Given the description of an element on the screen output the (x, y) to click on. 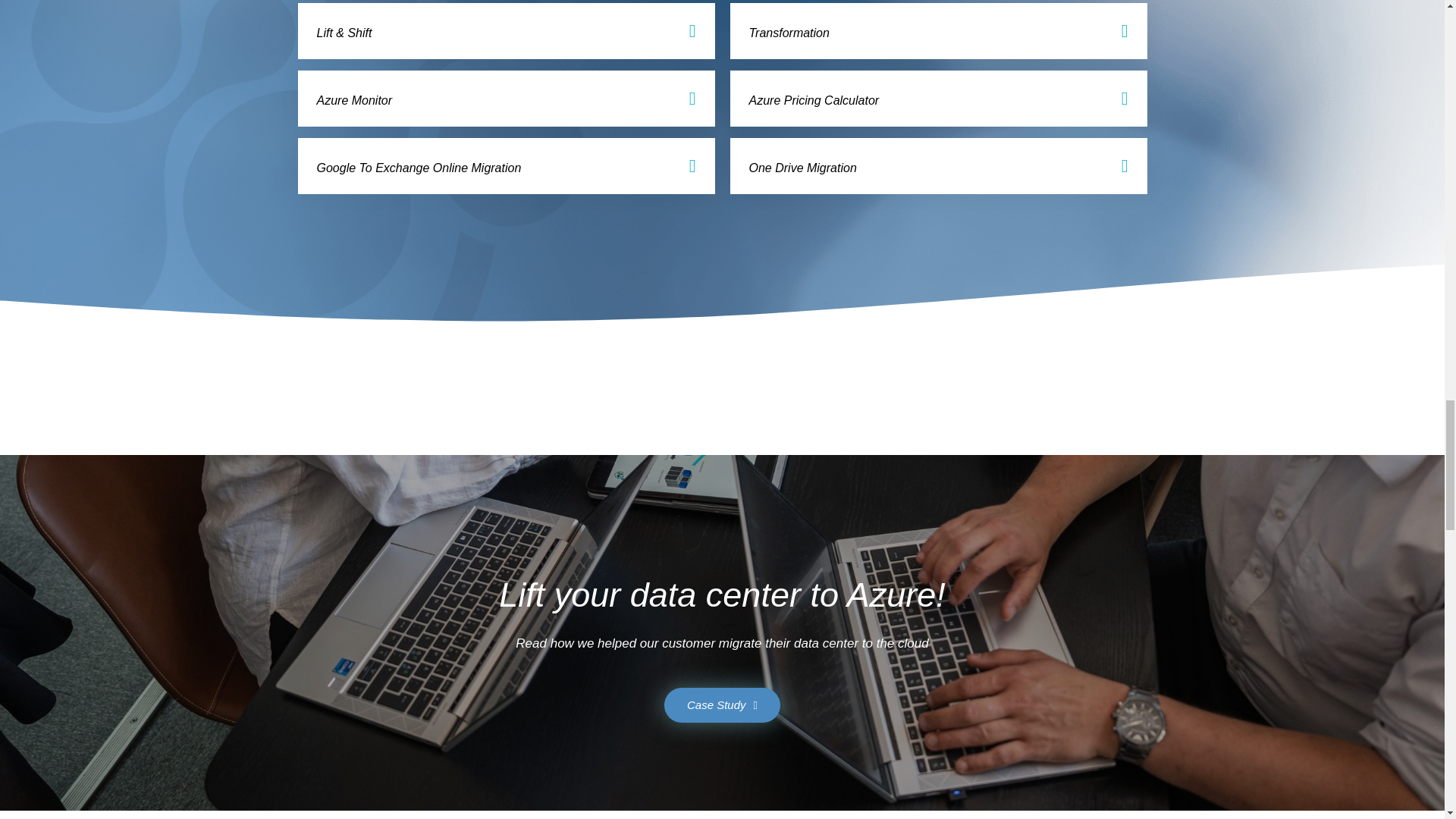
Case Study (721, 704)
Azure Monitor (355, 100)
One Drive Migration (803, 167)
Google To Exchange Online Migration (419, 167)
Transformation (789, 32)
Azure Pricing Calculator (814, 100)
